Given the description of an element on the screen output the (x, y) to click on. 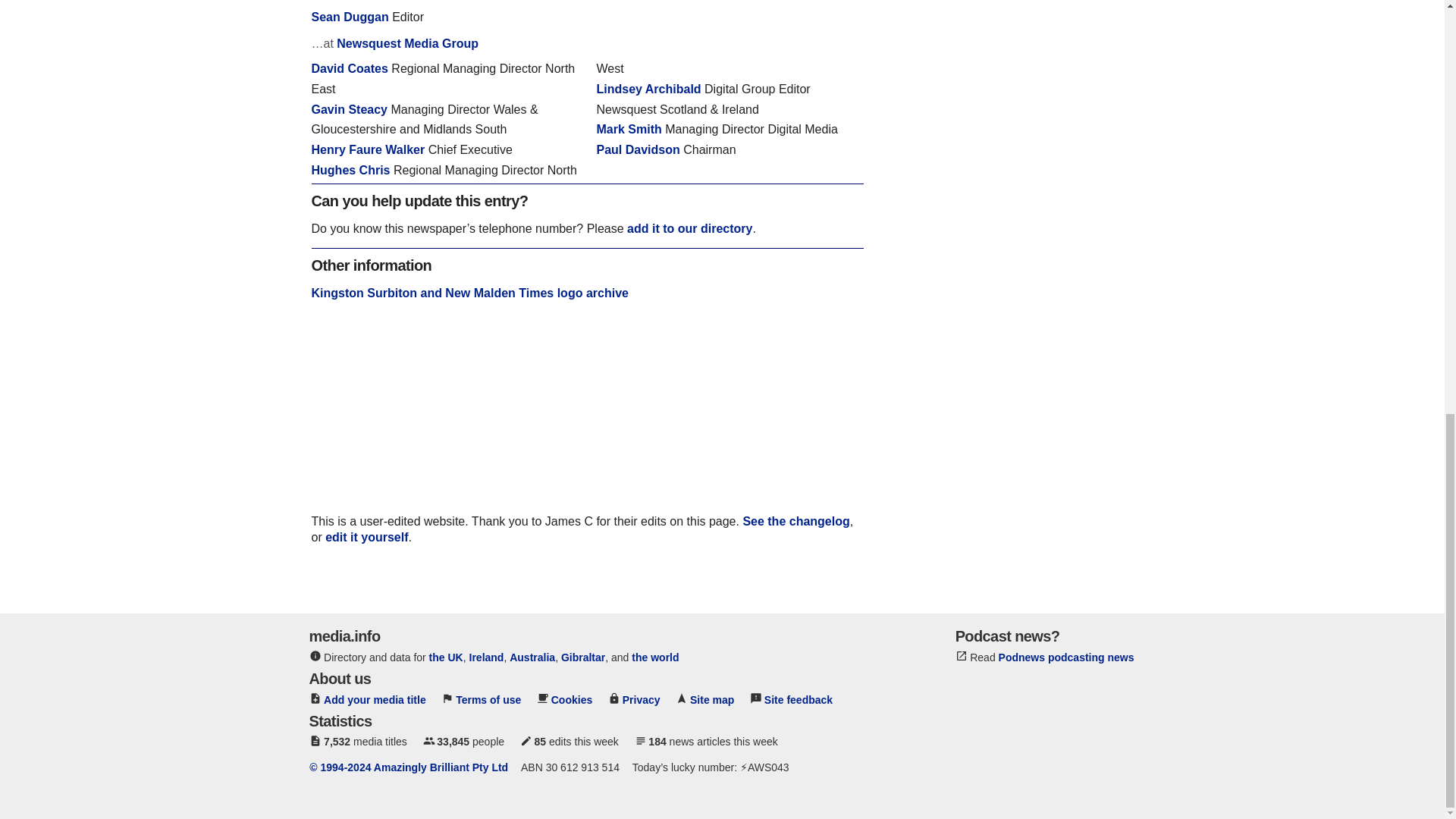
Hughes Chris (350, 169)
David Coates (349, 68)
Lindsey Archibald (647, 88)
3rd party ad content (587, 575)
Kingston Surbiton and New Malden Times logo archive (469, 291)
Gavin Steacy (349, 109)
Sean Duggan (349, 16)
Mark Smith (628, 128)
Henry Faure Walker (368, 149)
add it to our directory (689, 228)
Newsquest Media Group (407, 42)
3rd party ad content (587, 418)
Paul Davidson (637, 149)
